Given the description of an element on the screen output the (x, y) to click on. 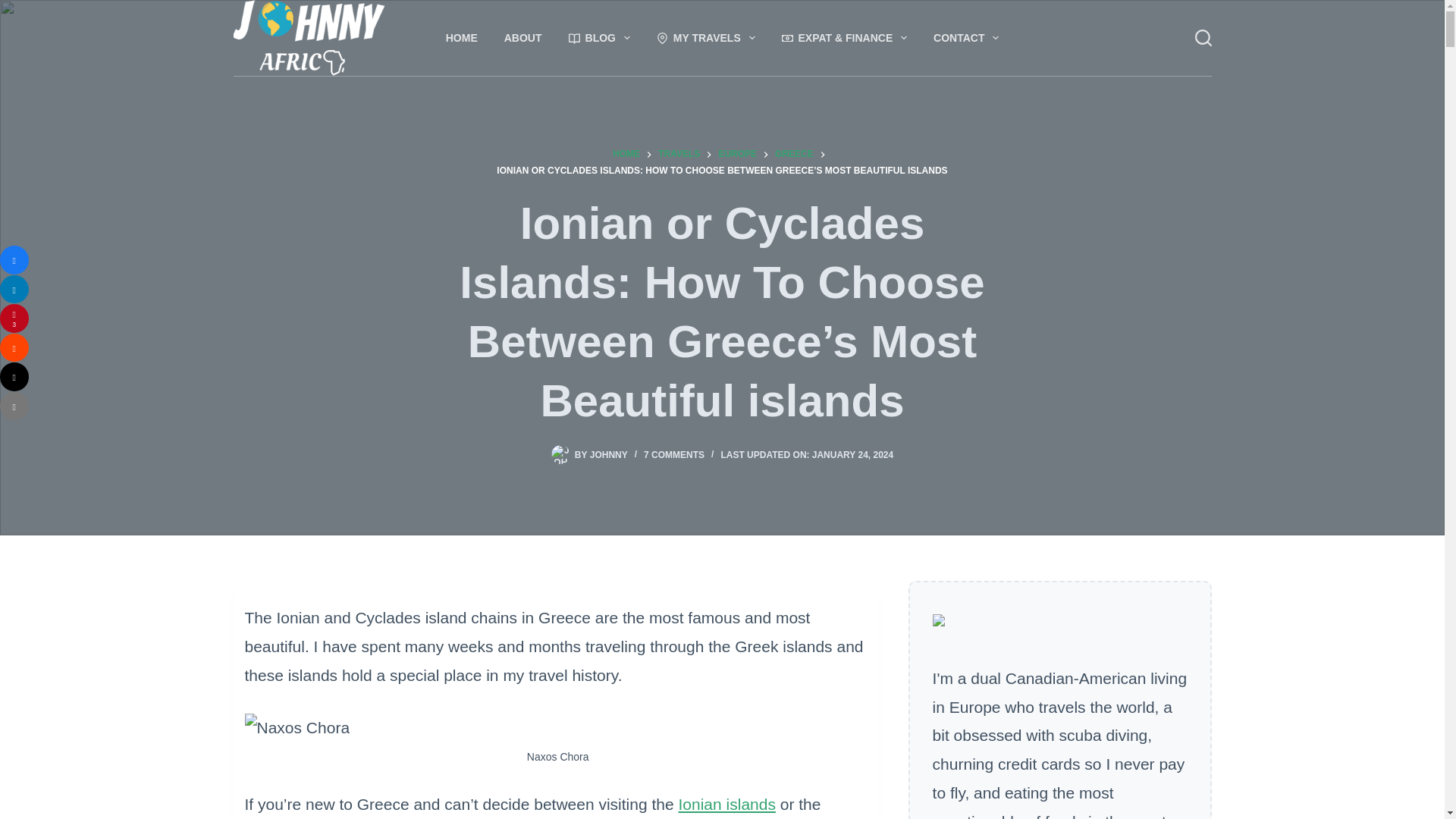
Skip to content (15, 7)
Posts by Johnny (608, 454)
Expatlife (844, 38)
